Given the description of an element on the screen output the (x, y) to click on. 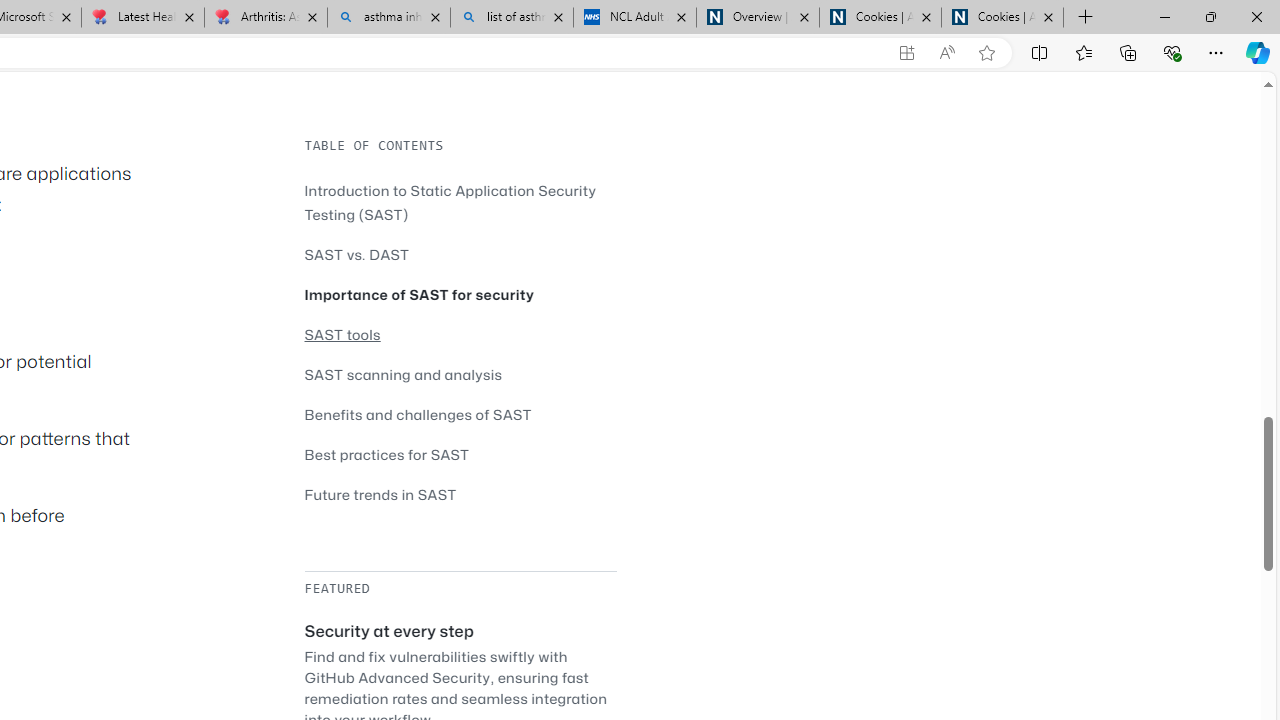
asthma inhaler - Search (388, 17)
list of asthma inhalers uk - Search (511, 17)
Benefits and challenges of SAST (418, 414)
SAST vs. DAST (460, 254)
App available. Install GitHub (906, 53)
Benefits and challenges of SAST (460, 413)
SAST scanning and analysis (403, 374)
Best practices for SAST (386, 453)
